Given the description of an element on the screen output the (x, y) to click on. 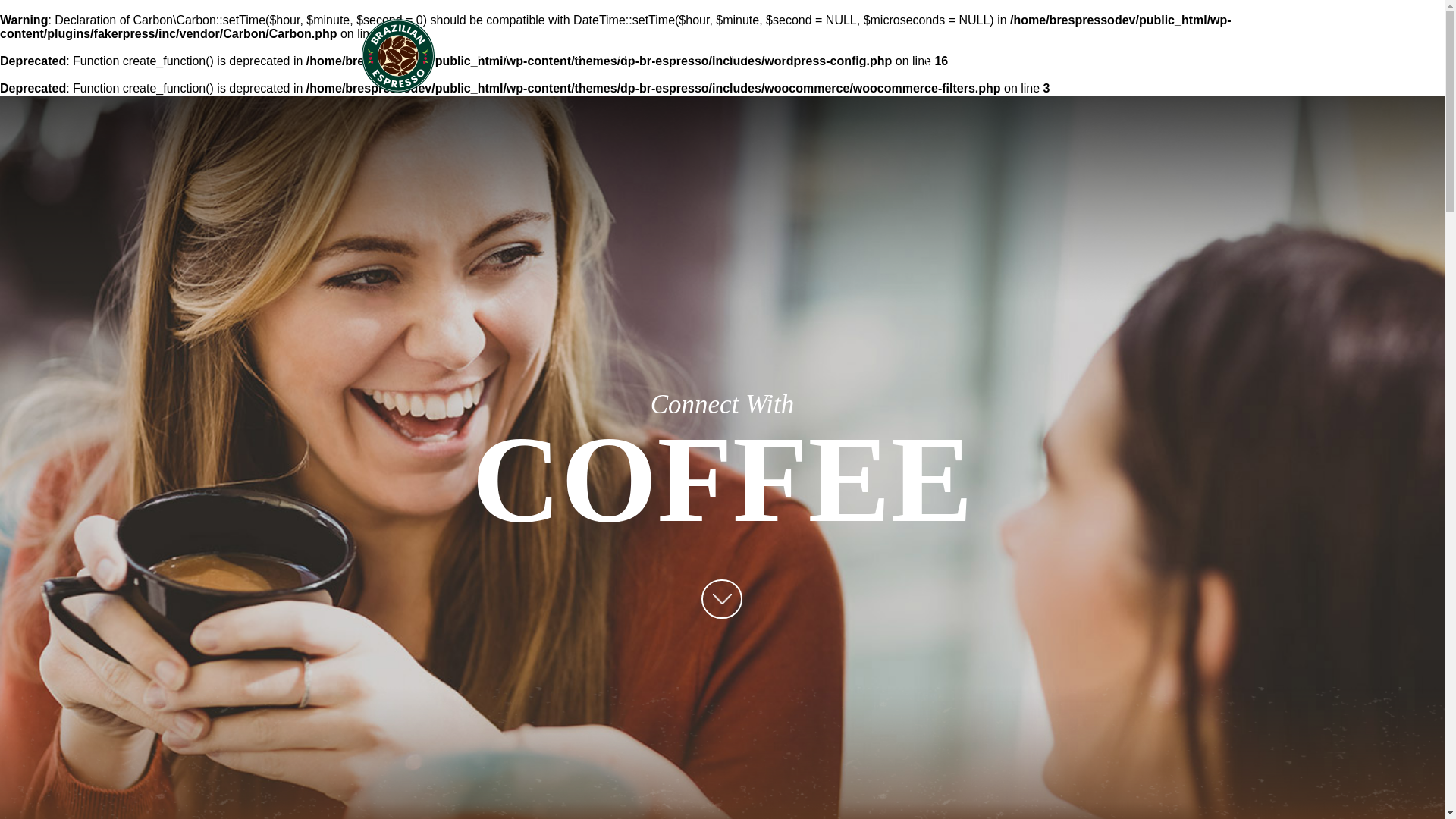
CONTACT (759, 55)
SHOP COFFEE (598, 55)
OUR STORY (493, 55)
LOG IN (1049, 55)
BLOG (685, 55)
0 (964, 54)
